Given the description of an element on the screen output the (x, y) to click on. 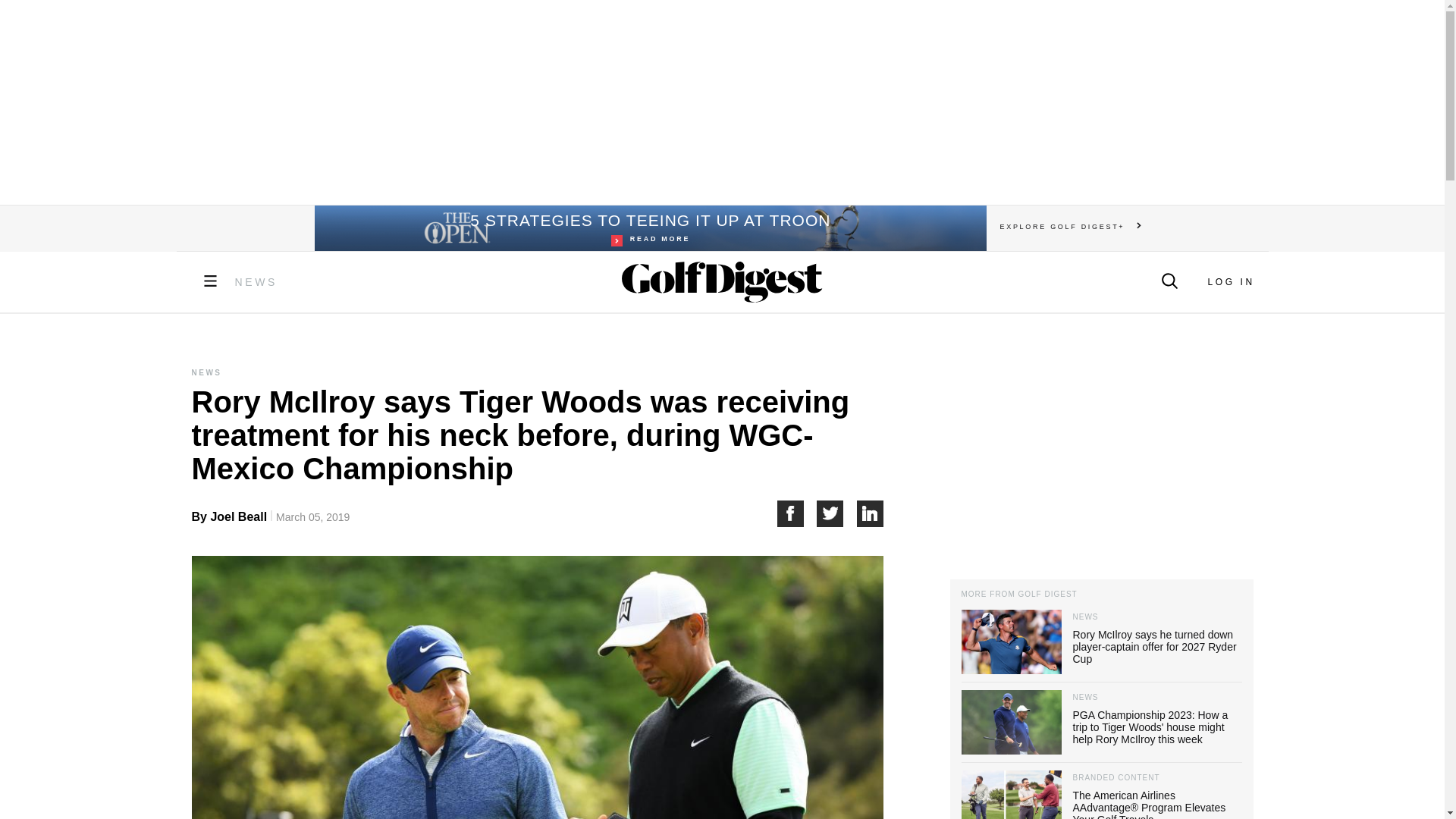
Share on Twitter (836, 513)
Share on Facebook (796, 513)
Share on LinkedIn (870, 513)
NEWS (256, 282)
LOG IN (1230, 281)
